Given the description of an element on the screen output the (x, y) to click on. 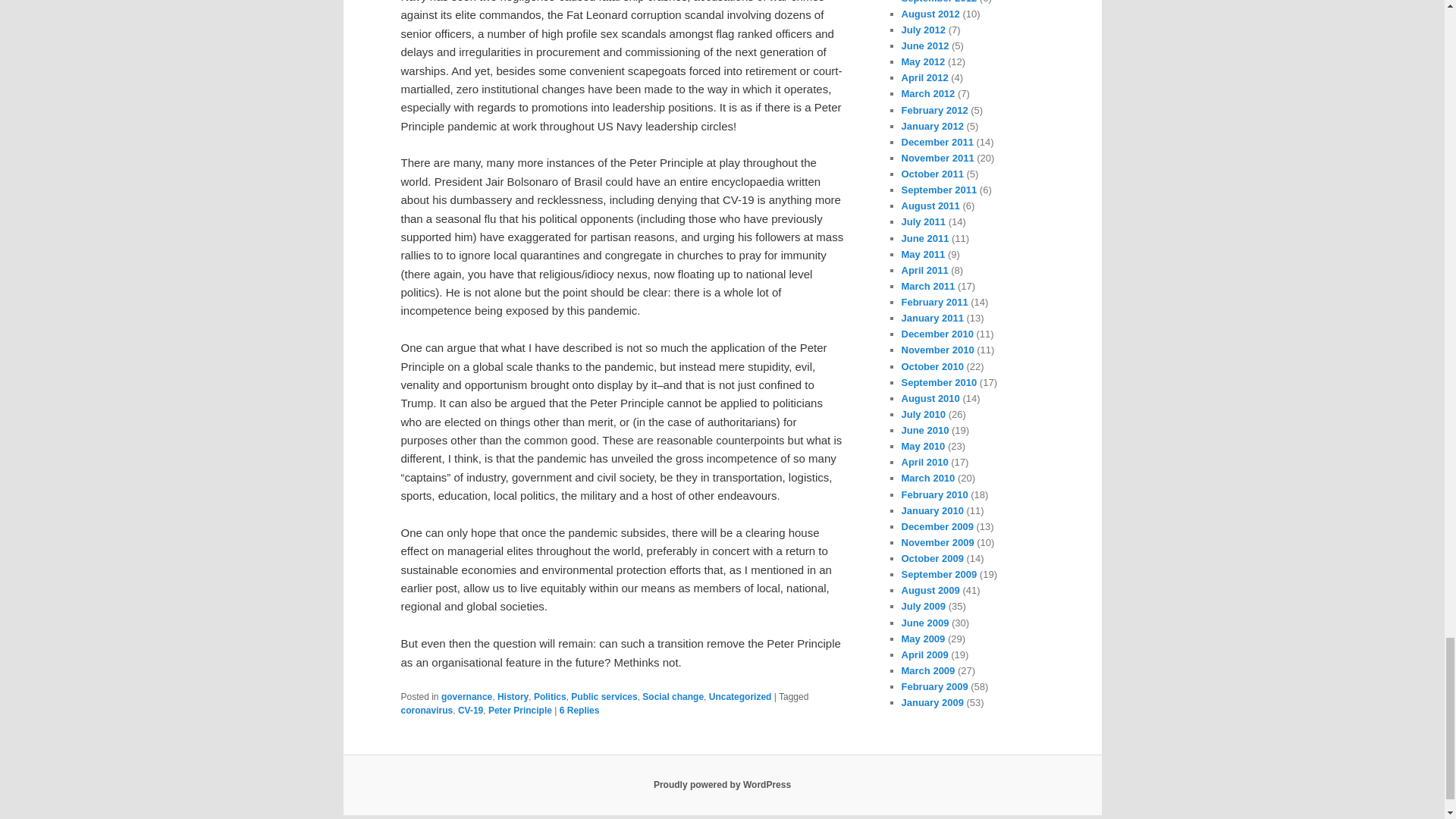
Semantic Personal Publishing Platform (721, 784)
Social change (672, 696)
governance (466, 696)
History (512, 696)
Politics (550, 696)
Public services (603, 696)
